Given the description of an element on the screen output the (x, y) to click on. 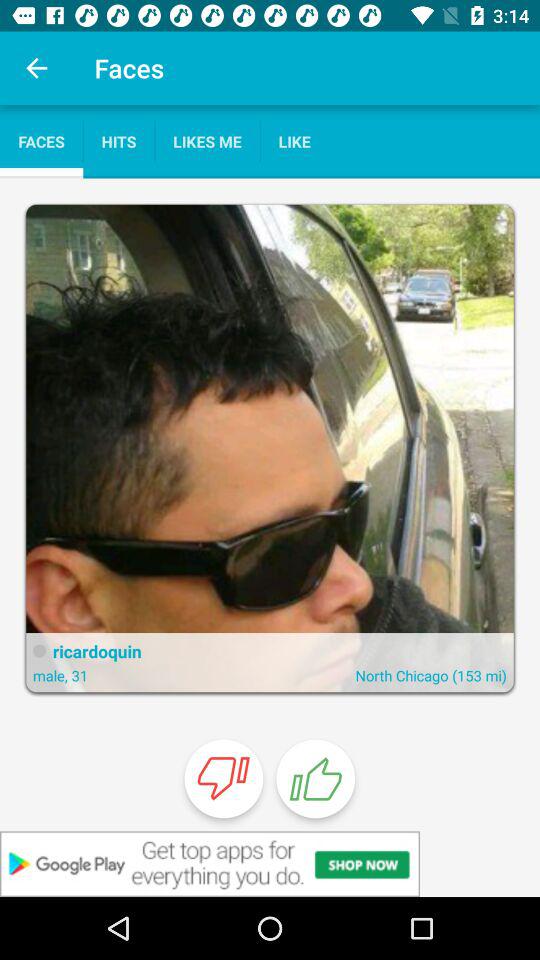
go to google play advertisement (270, 864)
